Given the description of an element on the screen output the (x, y) to click on. 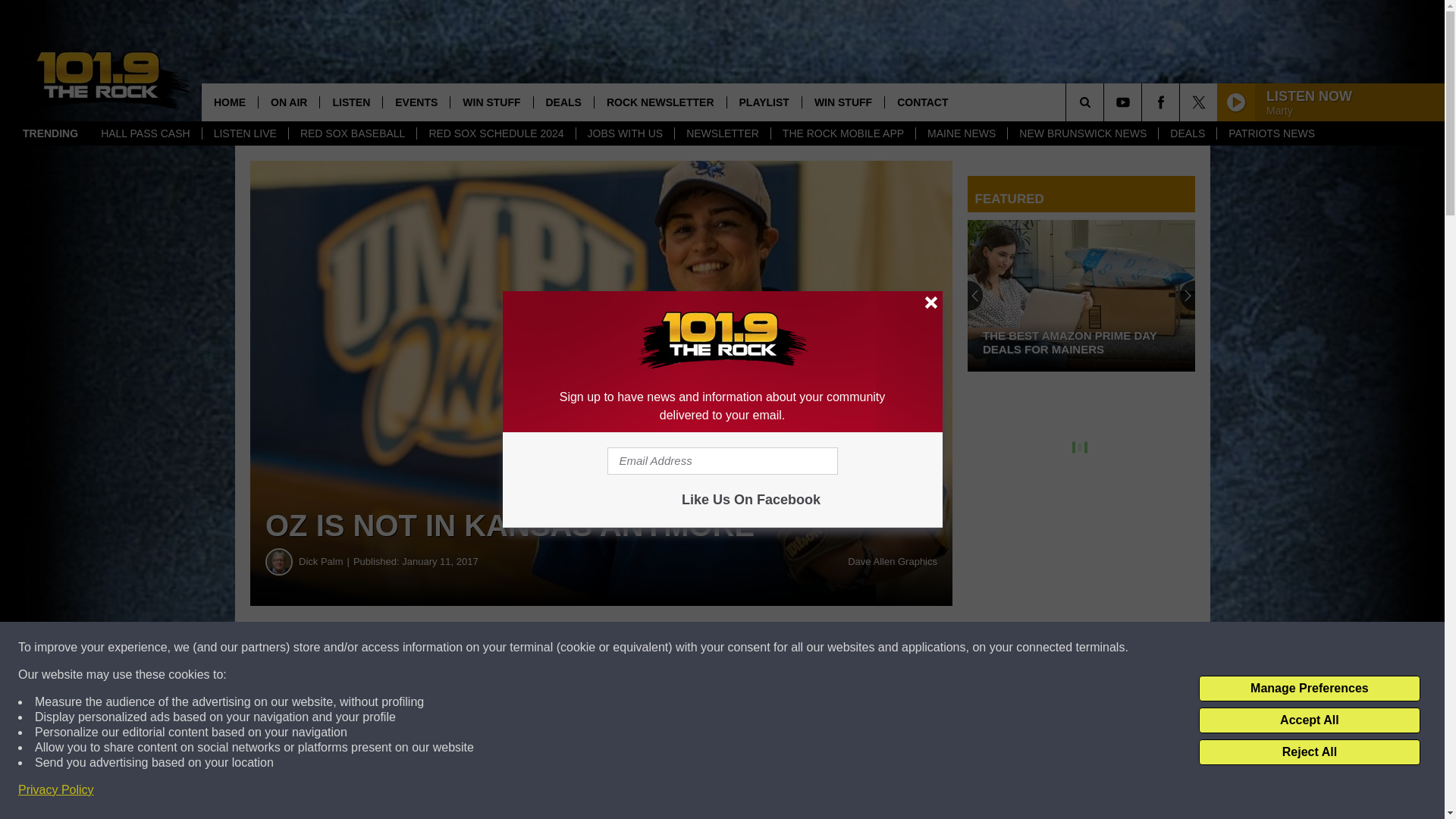
WIN STUFF (490, 102)
Share on Twitter (741, 647)
LISTEN LIVE (245, 133)
DEALS (562, 102)
Manage Preferences (1309, 688)
DEALS (1186, 133)
EVENTS (415, 102)
JOBS WITH US (625, 133)
WIN STUFF (842, 102)
SEARCH (1106, 102)
TRENDING (49, 133)
Email Address (722, 461)
Share on Facebook (460, 647)
HOME (229, 102)
THE ROCK MOBILE APP (842, 133)
